Given the description of an element on the screen output the (x, y) to click on. 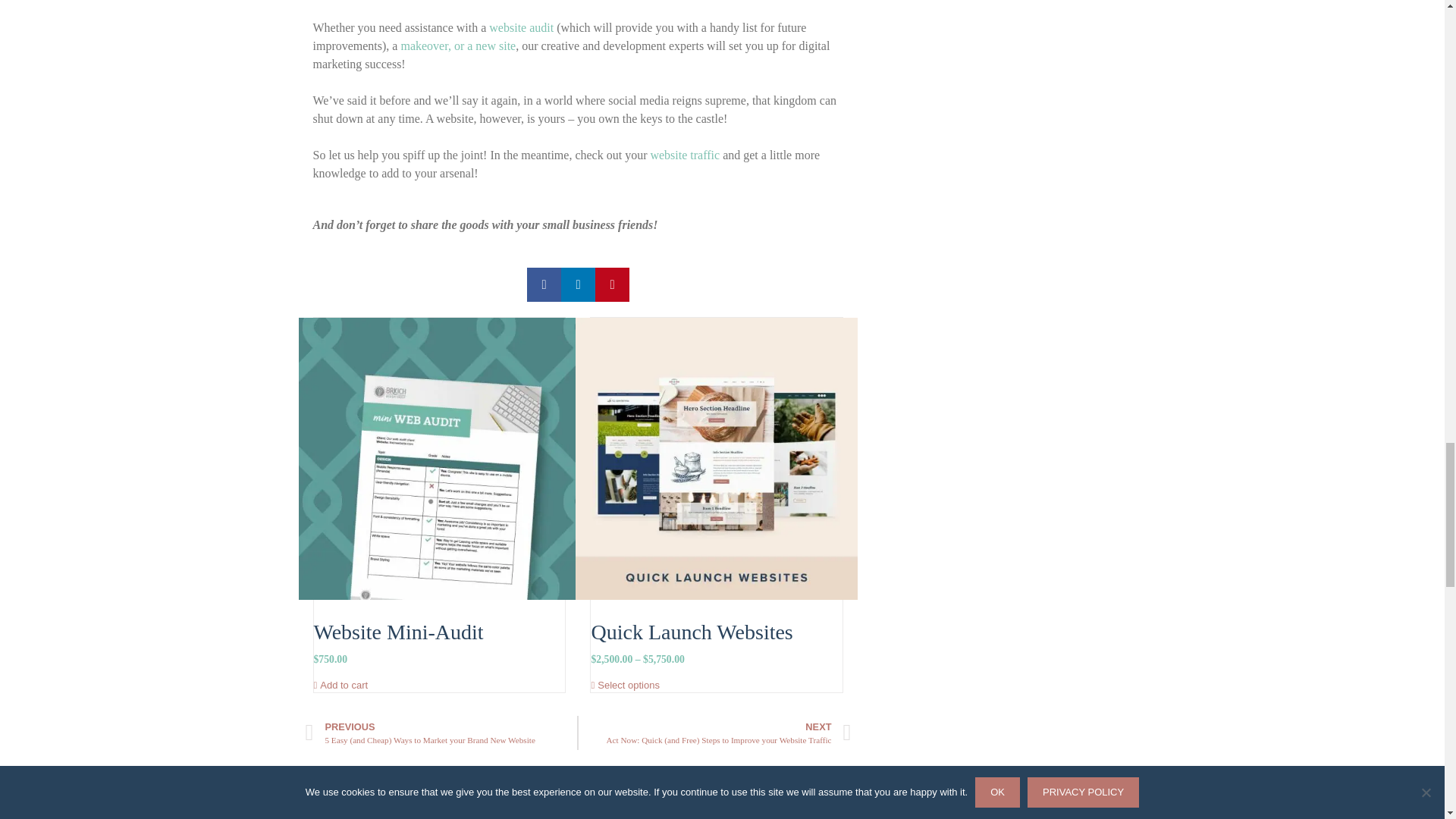
website traffic (684, 154)
website audit (521, 27)
Add to cart (341, 685)
makeover, or a new site (457, 45)
